Given the description of an element on the screen output the (x, y) to click on. 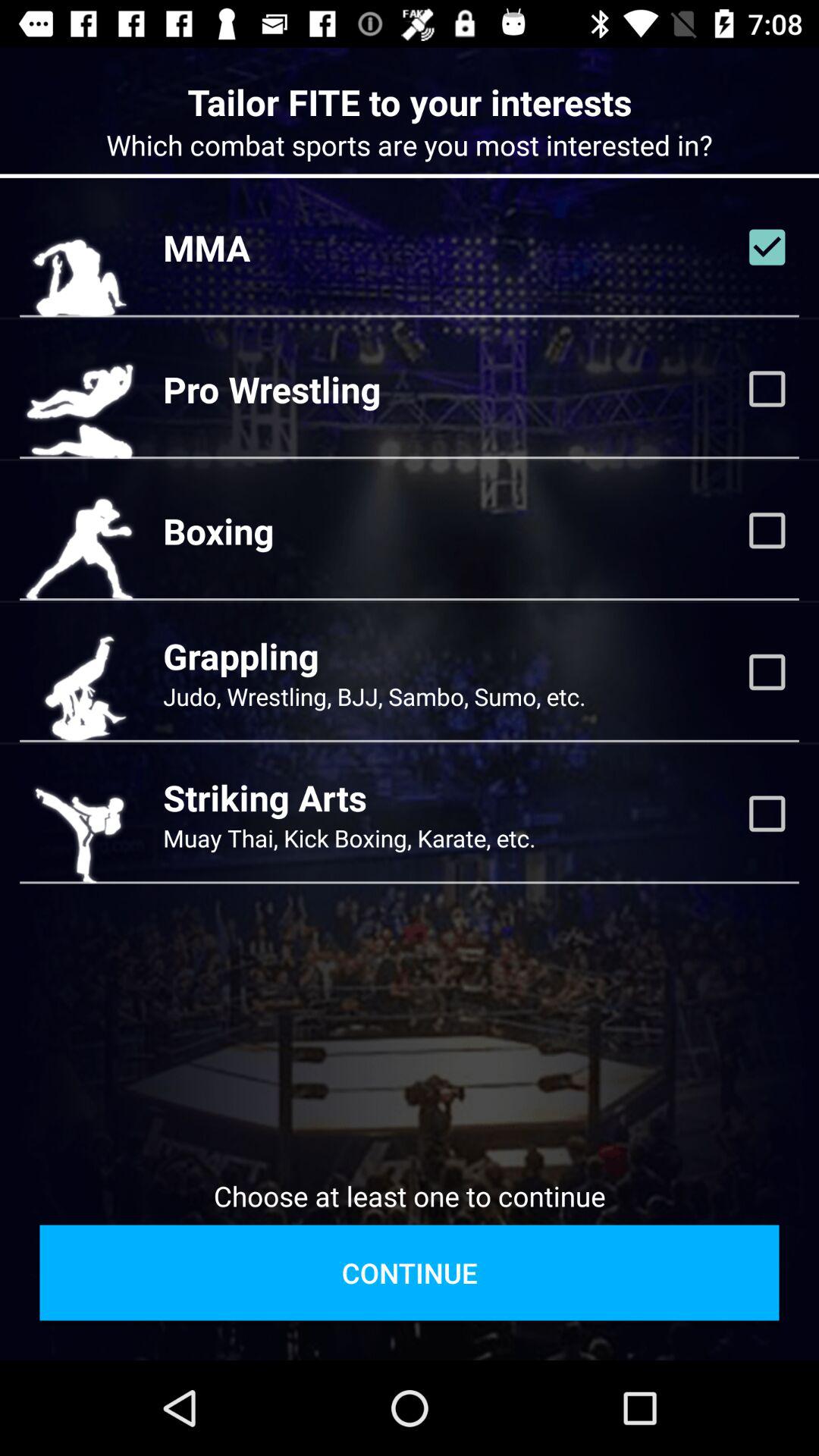
swipe to striking arts item (264, 797)
